Given the description of an element on the screen output the (x, y) to click on. 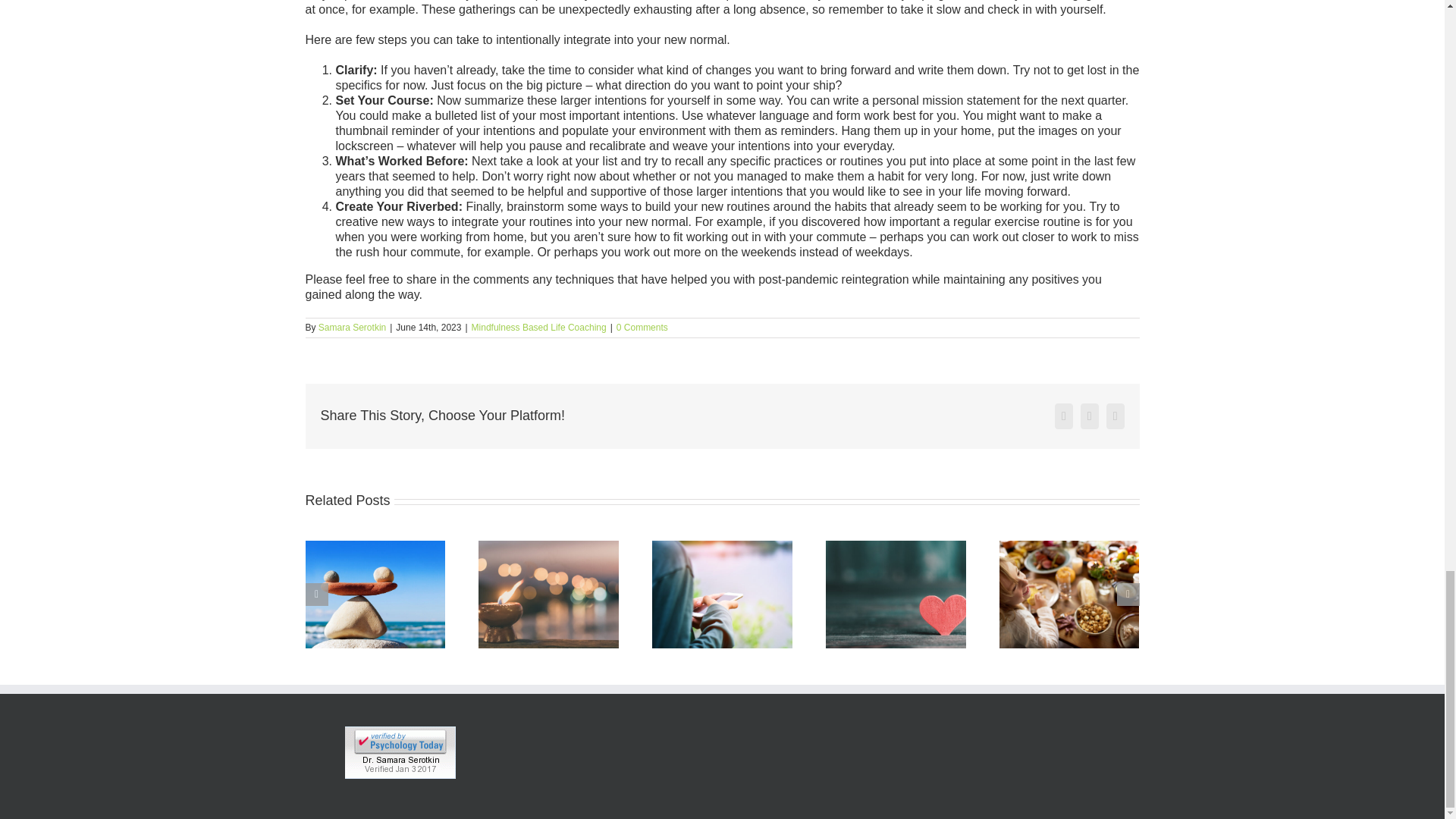
Posts by Samara Serotkin (351, 327)
verified by Psychology Today (400, 733)
